Given the description of an element on the screen output the (x, y) to click on. 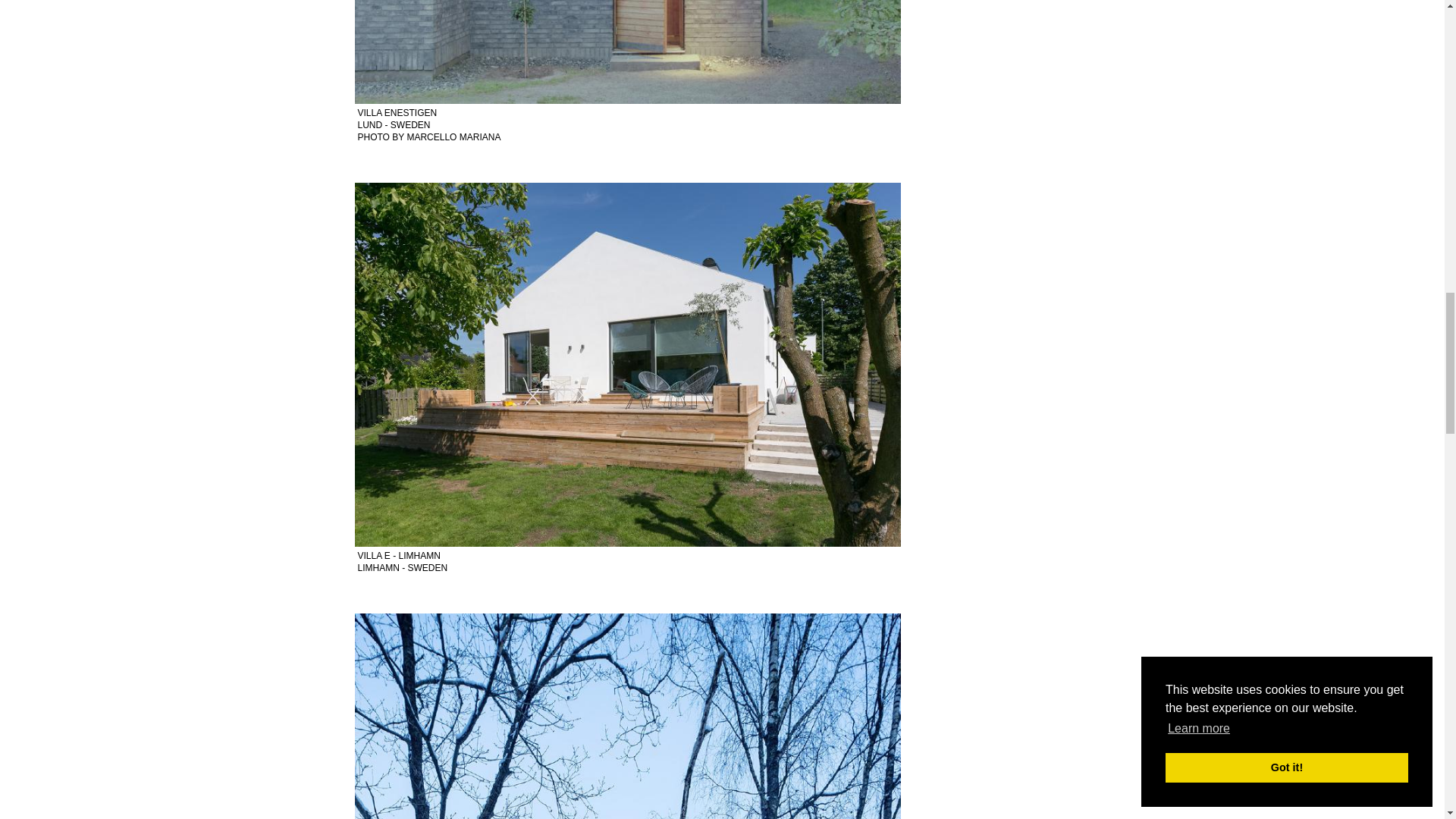
Villa Enestigen. Lund, Sweden (628, 716)
Villa Enestigen. Lund, Sweden (628, 52)
